Given the description of an element on the screen output the (x, y) to click on. 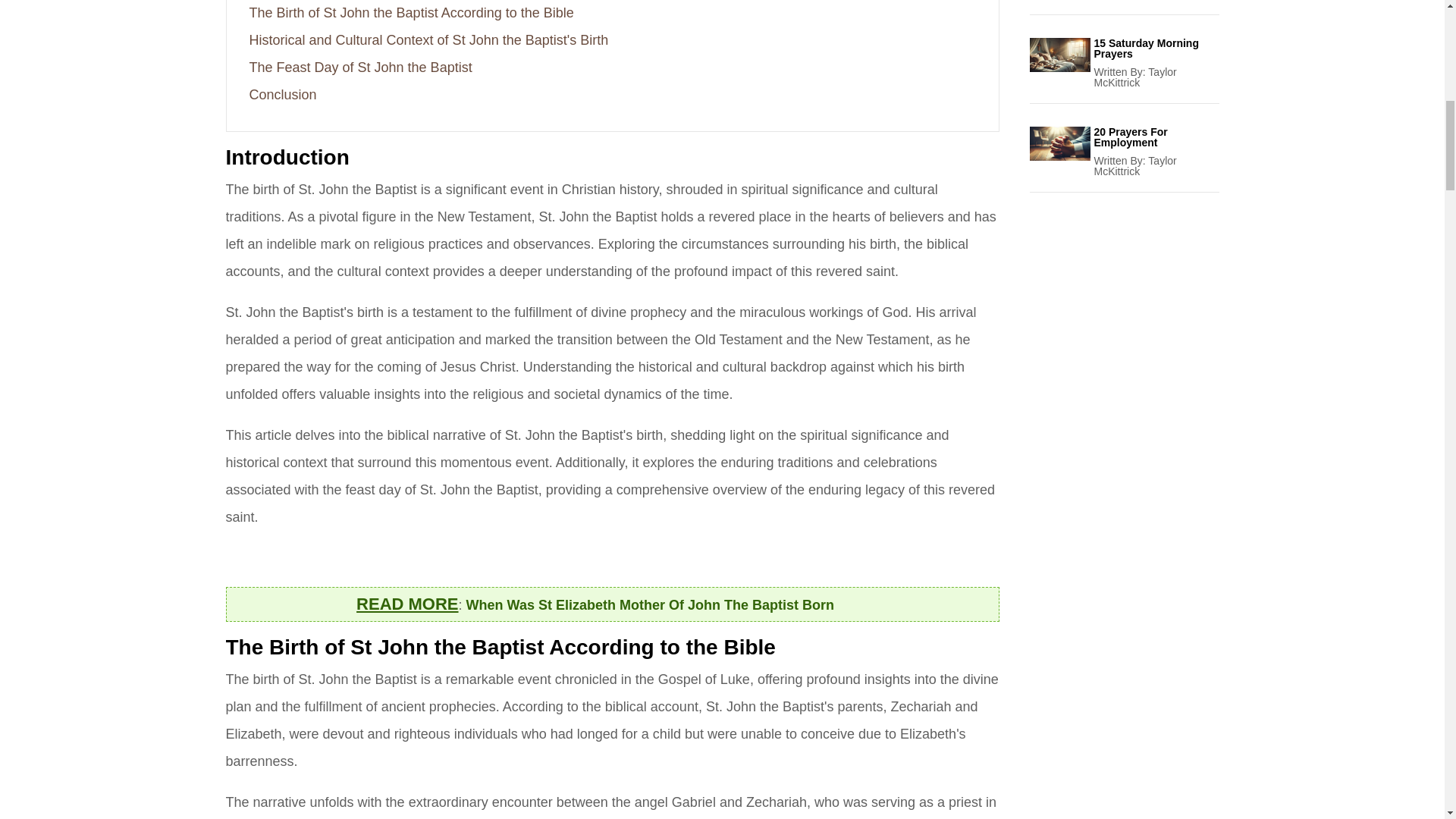
The Birth of St John the Baptist According to the Bible (410, 12)
The Feast Day of St John the Baptist (359, 67)
Conclusion (281, 94)
